Given the description of an element on the screen output the (x, y) to click on. 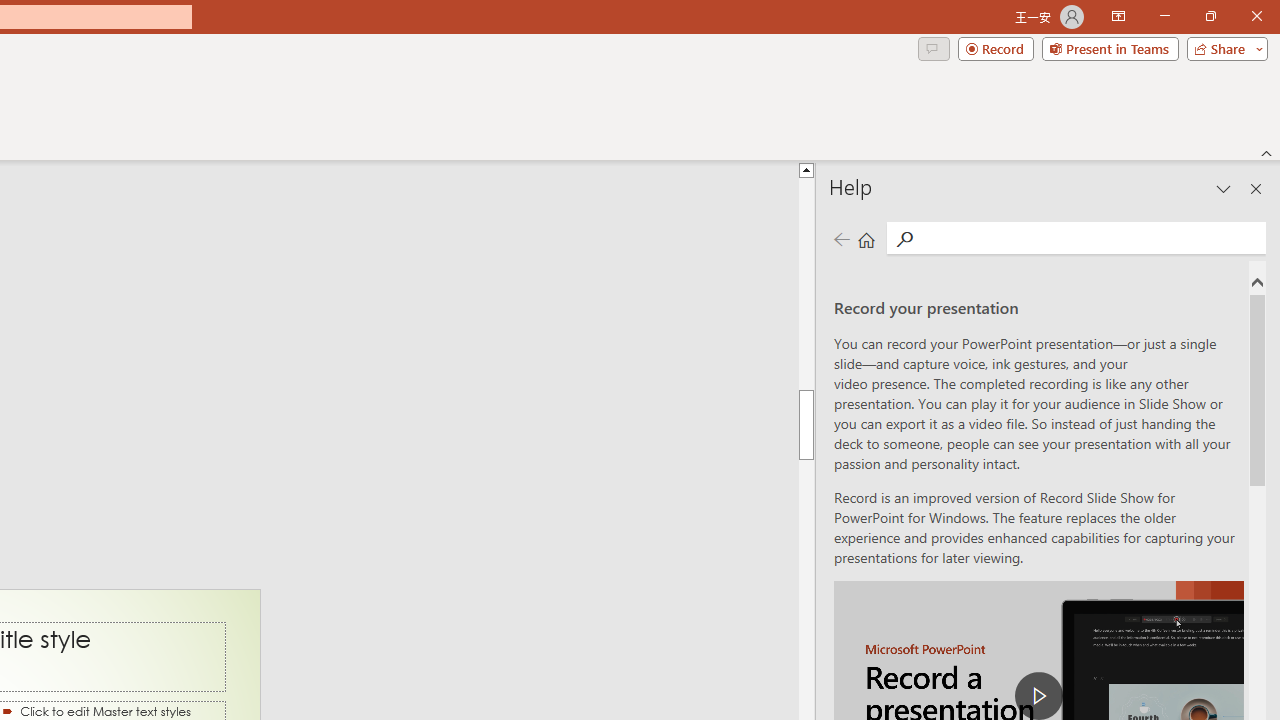
play Record a Presentation (1038, 695)
